Given the description of an element on the screen output the (x, y) to click on. 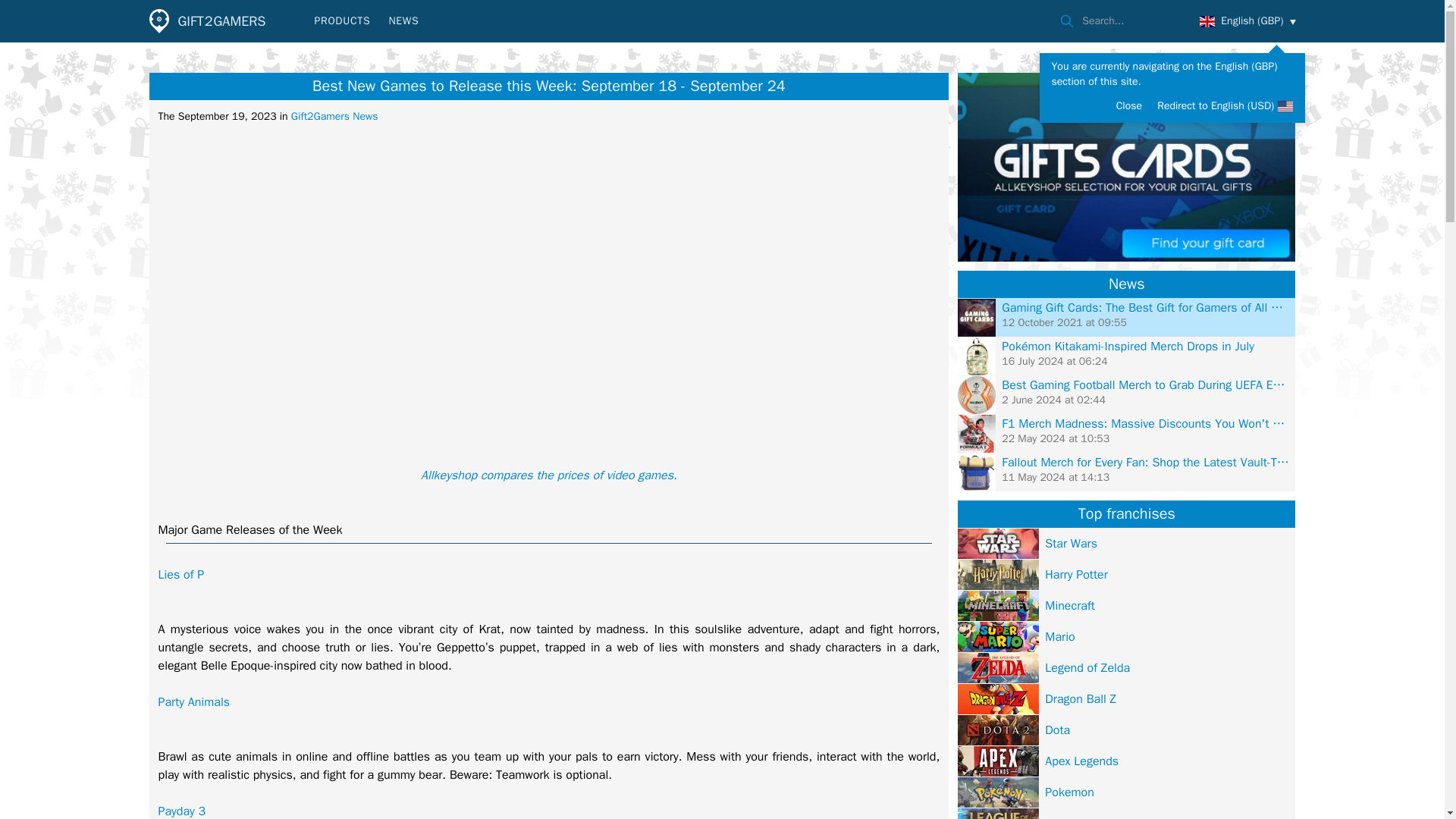
Allkeyshop compares the prices of video games. (548, 475)
Close (1128, 105)
Harry Potter (1076, 574)
Lies of P (180, 574)
GIFT2GAMERS (207, 21)
Mario (1126, 635)
News (1126, 284)
Minecraft (1069, 605)
Gaming Gift Cards: The Best Gift for Gamers of All Ages (1144, 307)
Dragon Ball Z (1080, 698)
Gift2Gamers News (334, 115)
Minecraft (1126, 604)
